Given the description of an element on the screen output the (x, y) to click on. 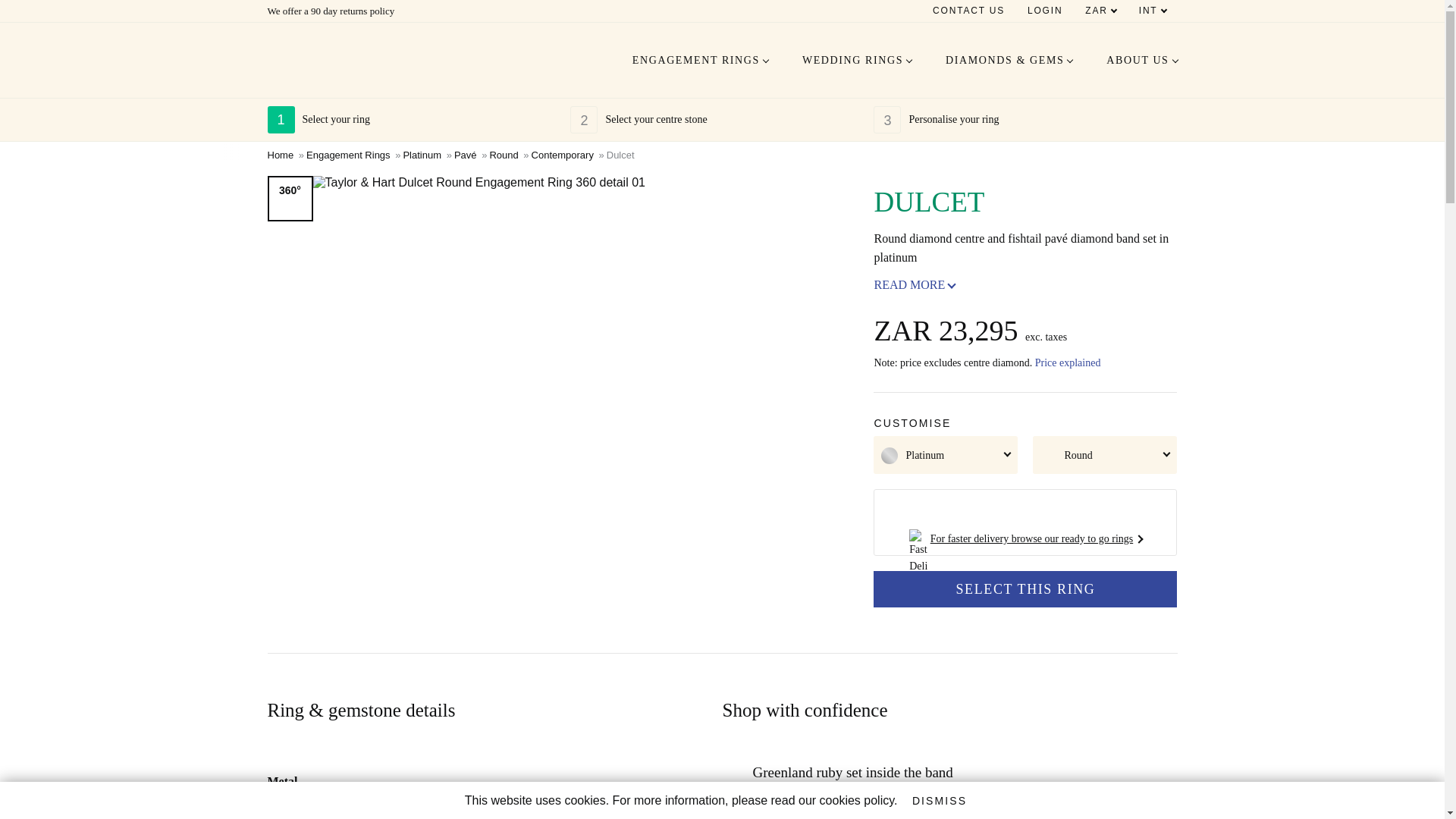
ZAR (1100, 11)
INT (1151, 11)
CONTACT US (960, 11)
LOGIN (1045, 11)
